Given the description of an element on the screen output the (x, y) to click on. 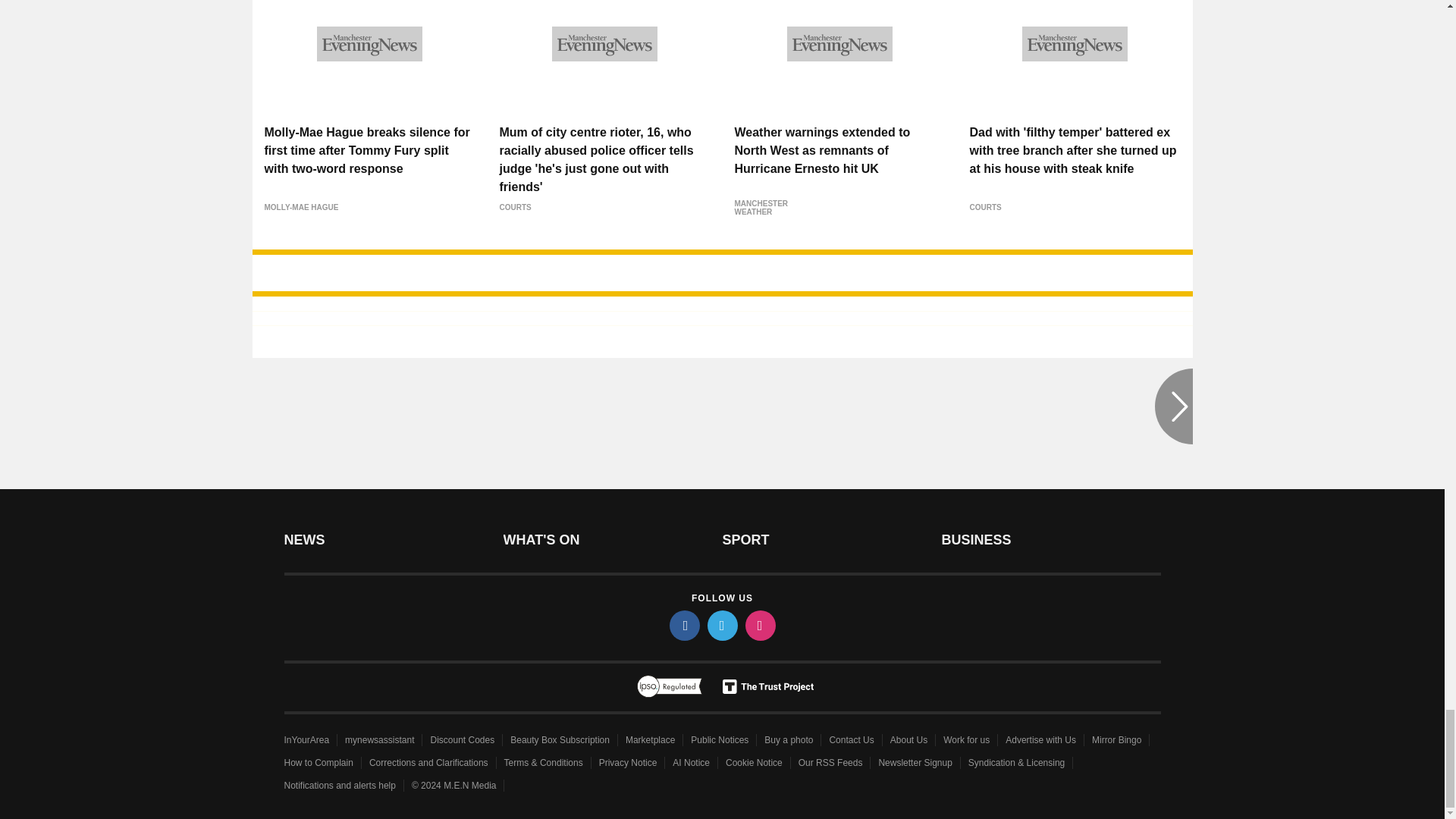
facebook (683, 625)
twitter (721, 625)
instagram (759, 625)
